Given the description of an element on the screen output the (x, y) to click on. 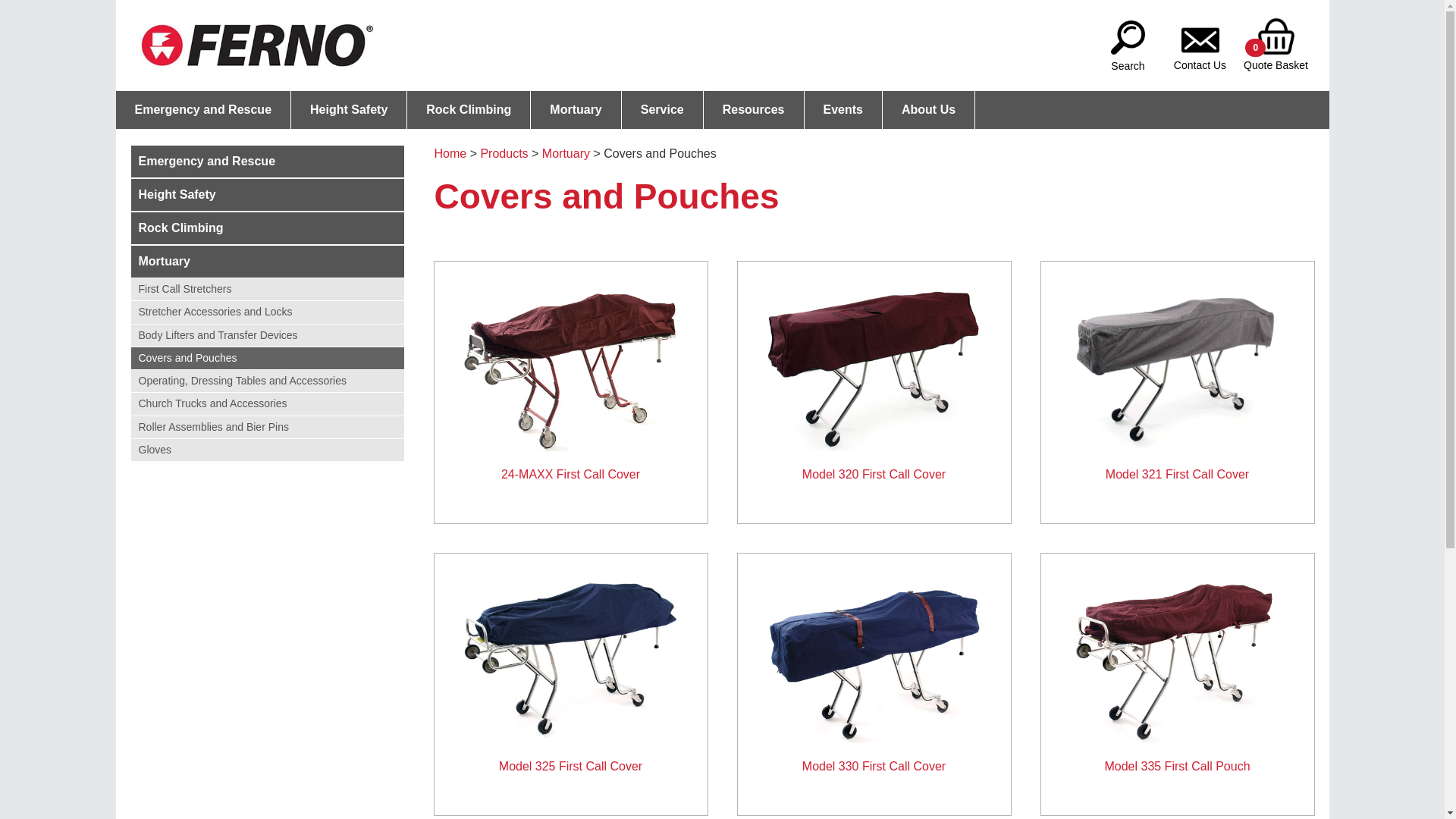
Products Element type: text (503, 153)
Stretcher Accessories and Locks Element type: text (266, 312)
Height Safety Element type: text (348, 109)
Search Element type: text (1127, 35)
Gloves Element type: text (266, 450)
Mortuary Element type: text (565, 153)
Home Element type: text (449, 153)
Emergency and Rescue Element type: text (266, 161)
Rock Climbing Element type: text (266, 228)
Model 335 First Call Pouch Element type: text (1176, 671)
Model 330 First Call Cover Element type: text (873, 671)
Mortuary Element type: text (575, 109)
Events Element type: text (842, 109)
Model 320 First Call Cover Element type: text (873, 379)
About Us Element type: text (928, 109)
First Call Stretchers Element type: text (266, 289)
24-MAXX First Call Cover Element type: text (569, 379)
Ferno Element type: hover (256, 45)
Covers and Pouches Element type: text (266, 358)
Resources Element type: text (753, 109)
Operating, Dressing Tables and Accessories Element type: text (266, 381)
Quote Basket Element type: text (1275, 35)
Mortuary Element type: text (266, 261)
Rock Climbing Element type: text (468, 109)
Model 321 First Call Cover Element type: text (1176, 379)
Emergency and Rescue Element type: text (202, 109)
Roller Assemblies and Bier Pins Element type: text (266, 426)
Service Element type: text (661, 109)
Contact Us Element type: text (1199, 35)
Church Trucks and Accessories Element type: text (266, 403)
Body Lifters and Transfer Devices Element type: text (266, 335)
Model 325 First Call Cover Element type: text (569, 671)
Height Safety Element type: text (266, 194)
